Given the description of an element on the screen output the (x, y) to click on. 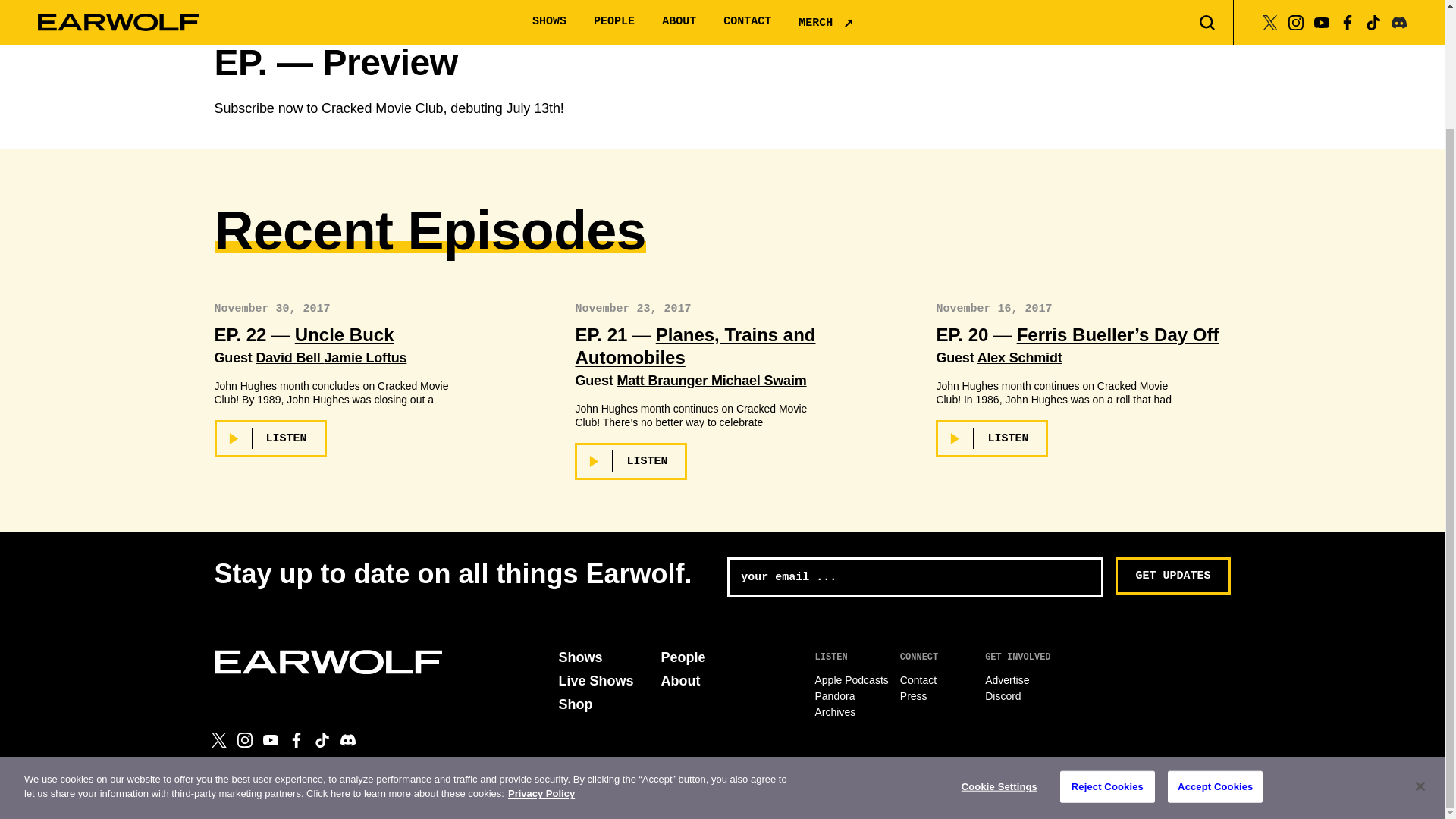
Get Updates (1172, 575)
LISTEN (270, 438)
David Bell (289, 357)
Uncle Buck (344, 334)
LISTEN (631, 461)
Matt Braunger (663, 380)
Michael Swaim (758, 380)
Jamie Loftus (365, 357)
Earwolf (327, 662)
Alex Schmidt (1019, 357)
Shows (579, 657)
LISTEN (992, 438)
Live Shows (595, 680)
Shop (574, 703)
Get Updates (1172, 575)
